Given the description of an element on the screen output the (x, y) to click on. 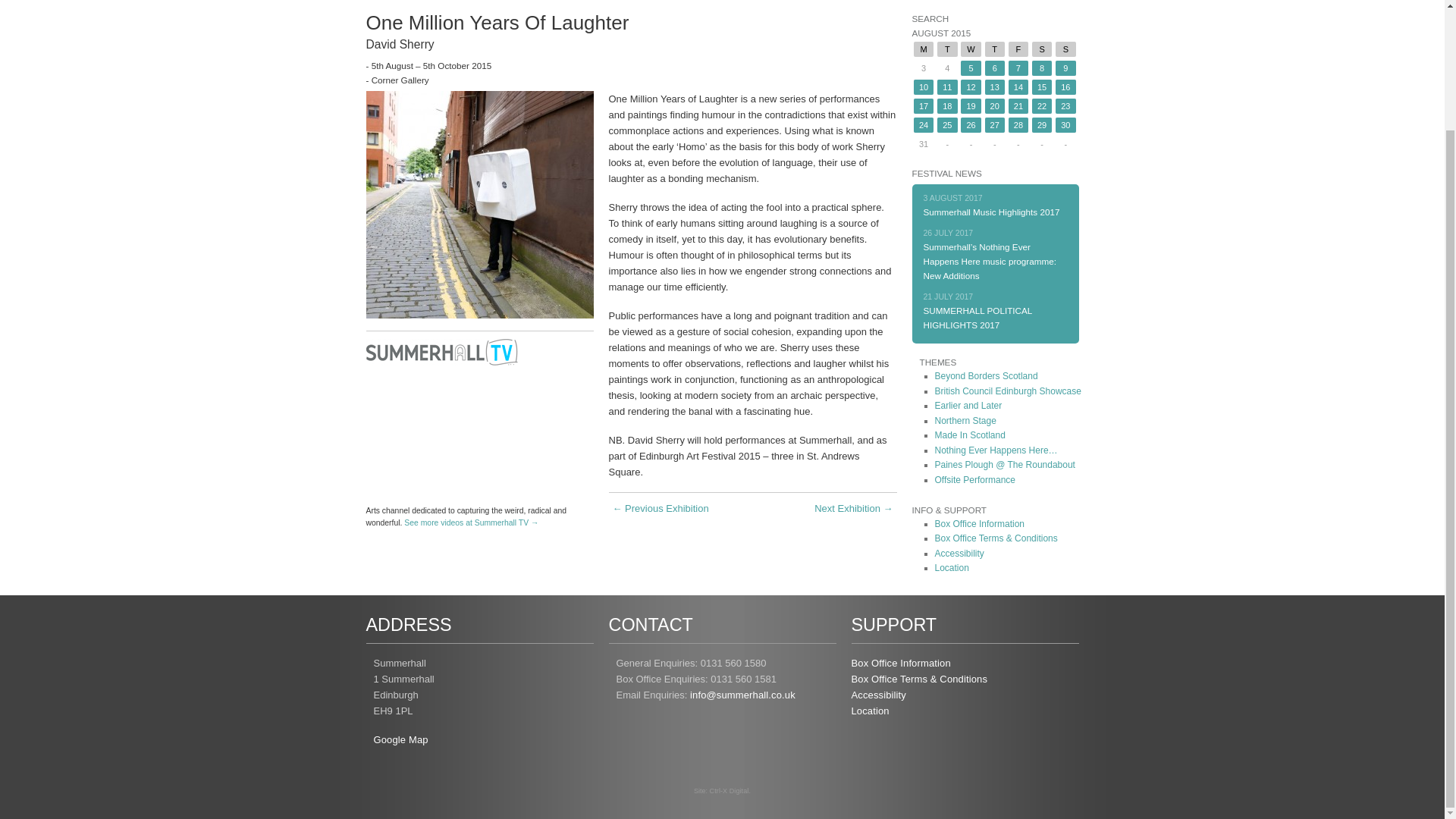
21 July 2017  (977, 317)
26 July 2017  (990, 260)
Three Go Adventuring Again (852, 512)
3 August 2017  (991, 212)
